Given the description of an element on the screen output the (x, y) to click on. 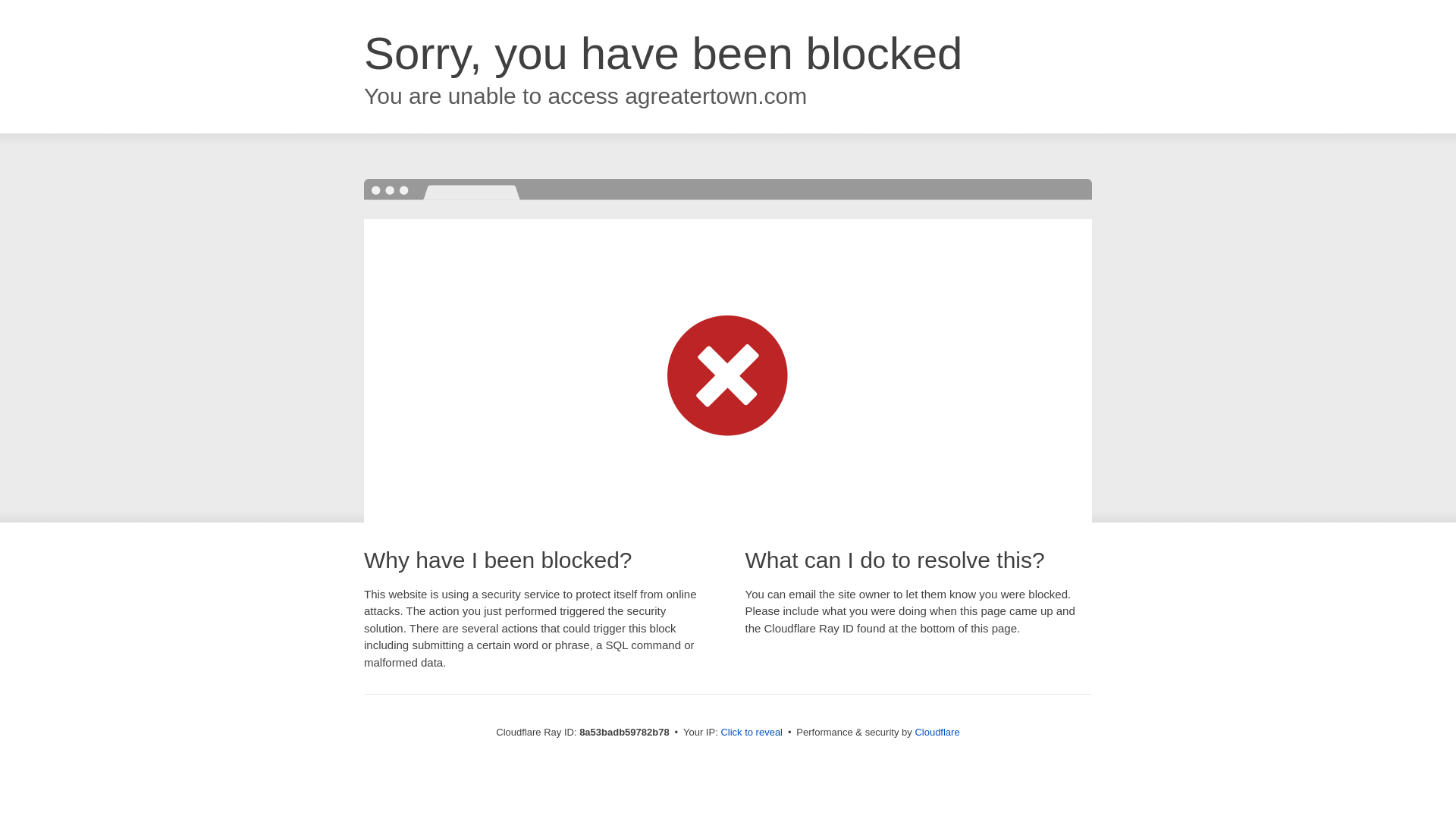
Click to reveal (751, 732)
Cloudflare (936, 731)
